Given the description of an element on the screen output the (x, y) to click on. 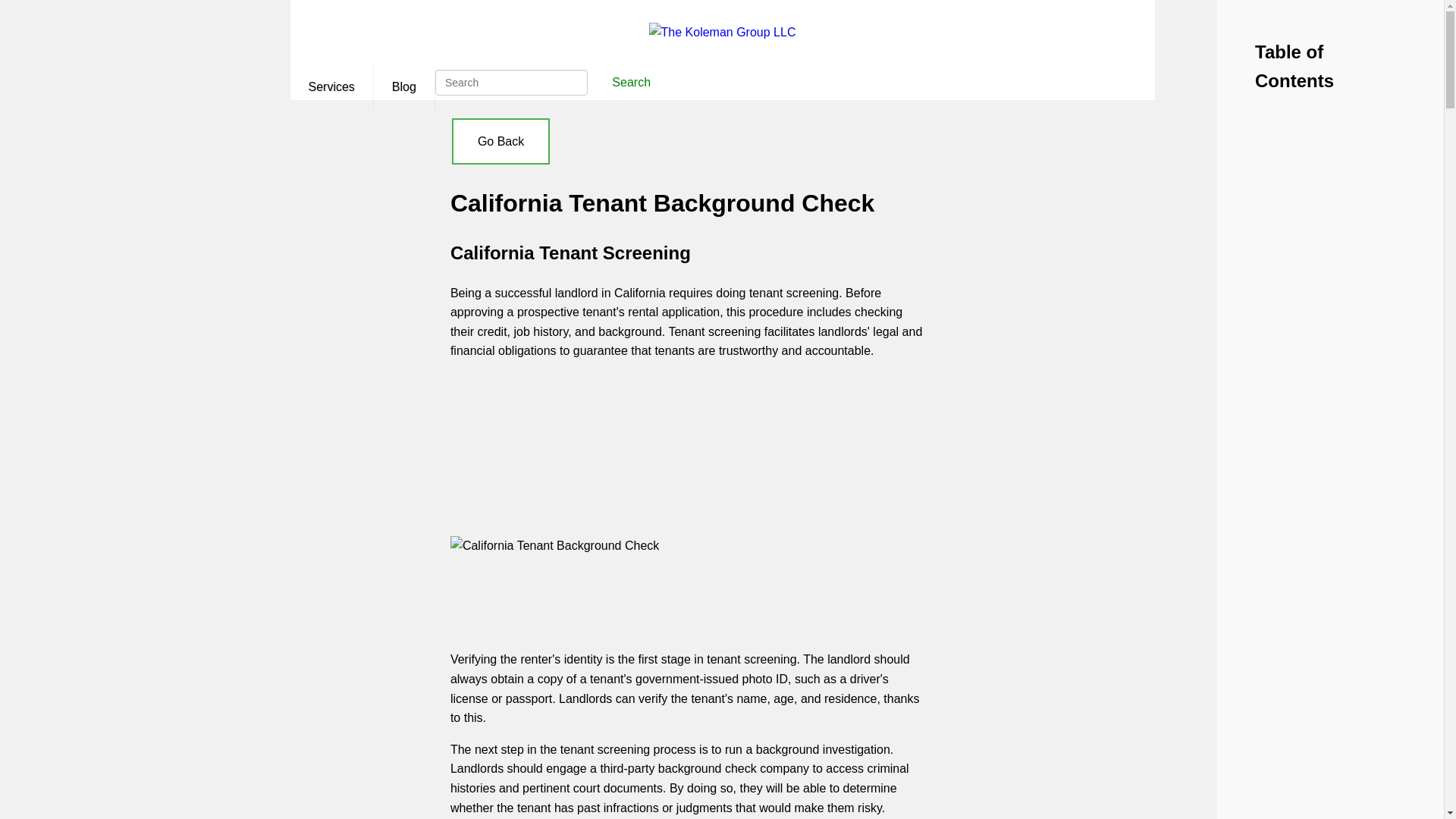
Tenant Background Check (686, 429)
Go Back (500, 141)
Services (330, 86)
Search (631, 82)
Blog (403, 86)
